Given the description of an element on the screen output the (x, y) to click on. 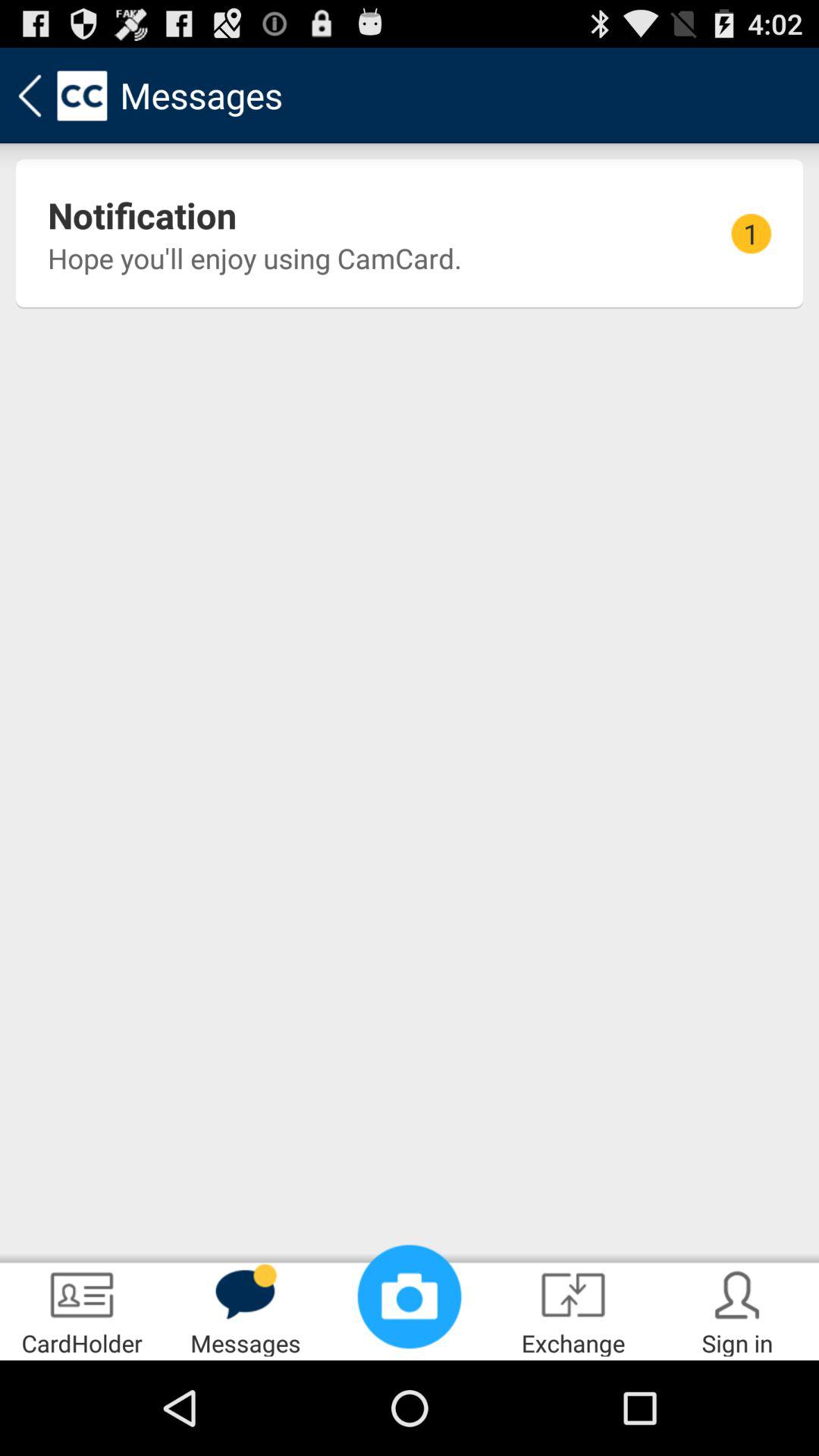
turn off icon to the left of the 1 item (254, 257)
